Given the description of an element on the screen output the (x, y) to click on. 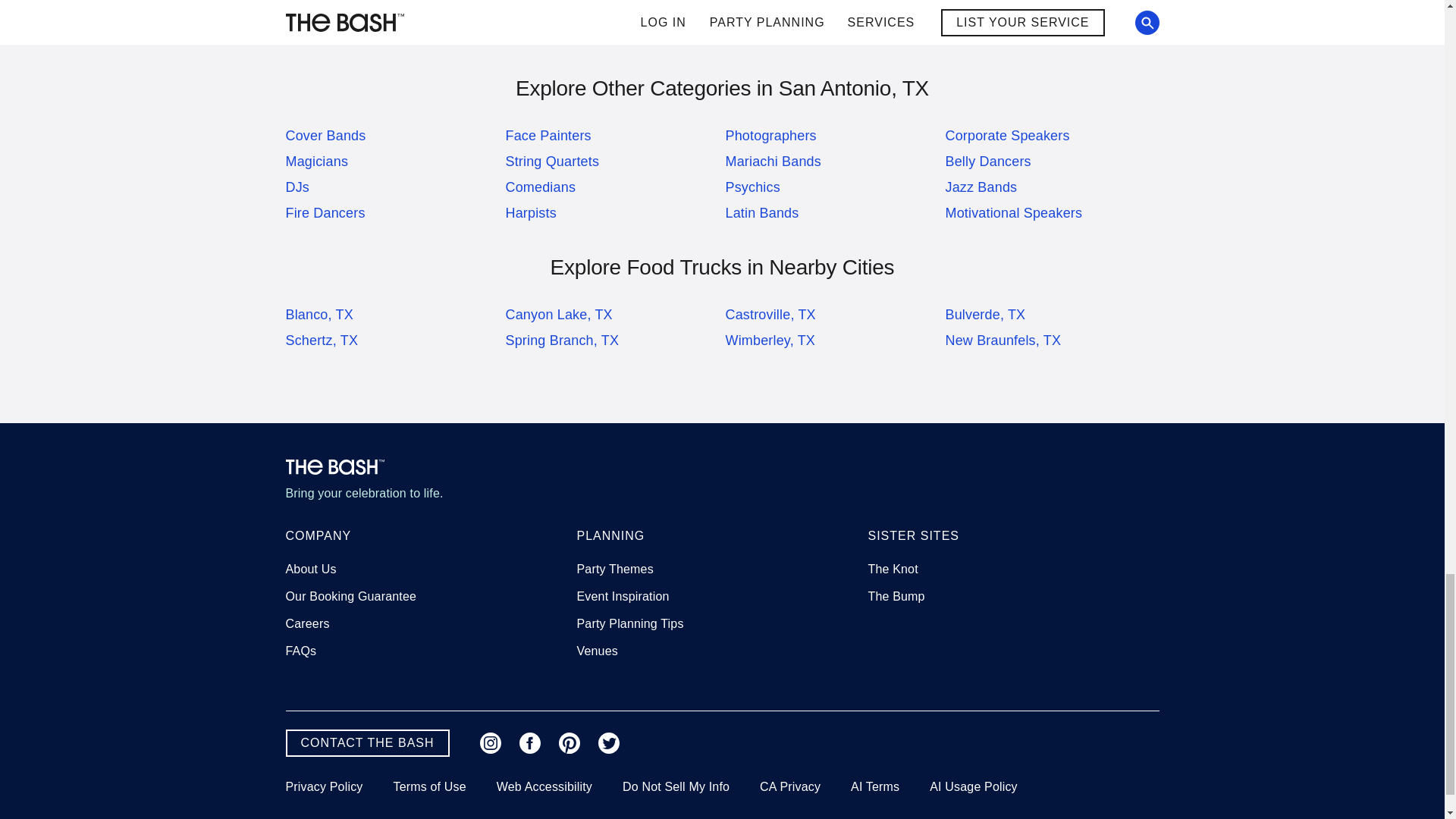
The Bash Logo (334, 467)
Frequently Asked Questions (300, 650)
